Given the description of an element on the screen output the (x, y) to click on. 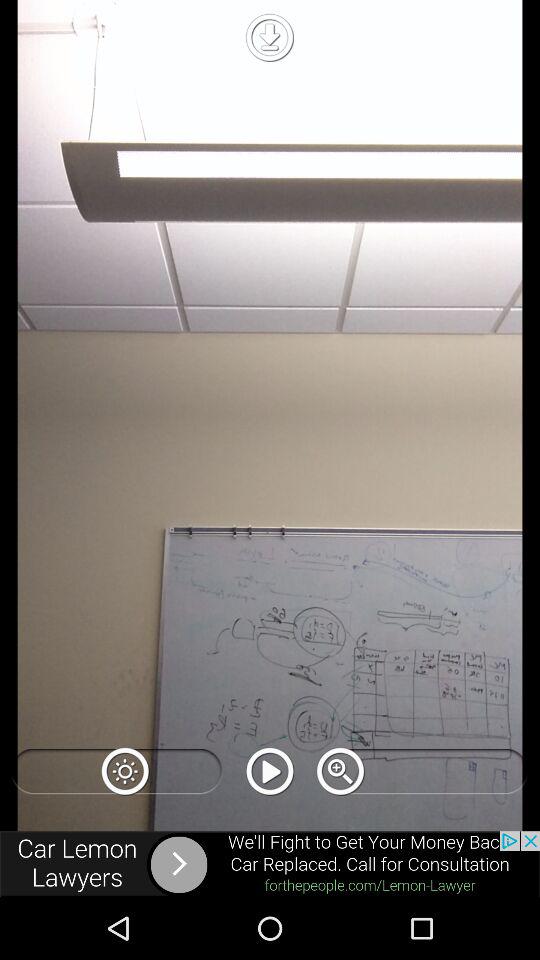
play video (269, 771)
